Given the description of an element on the screen output the (x, y) to click on. 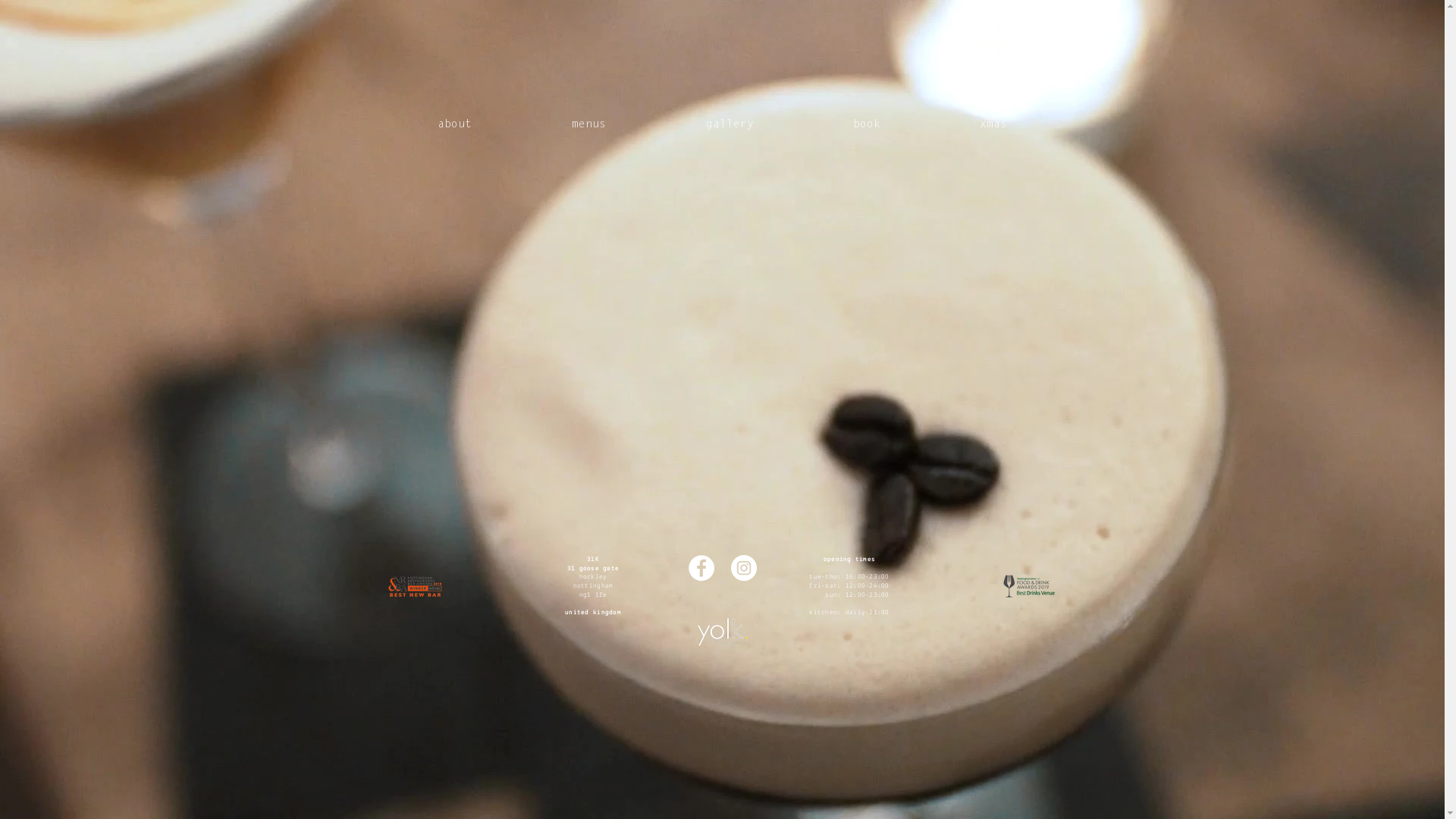
menus Element type: text (588, 124)
about Element type: text (454, 124)
book Element type: text (865, 124)
xmas Element type: text (992, 124)
gallery Element type: text (728, 124)
